Given the description of an element on the screen output the (x, y) to click on. 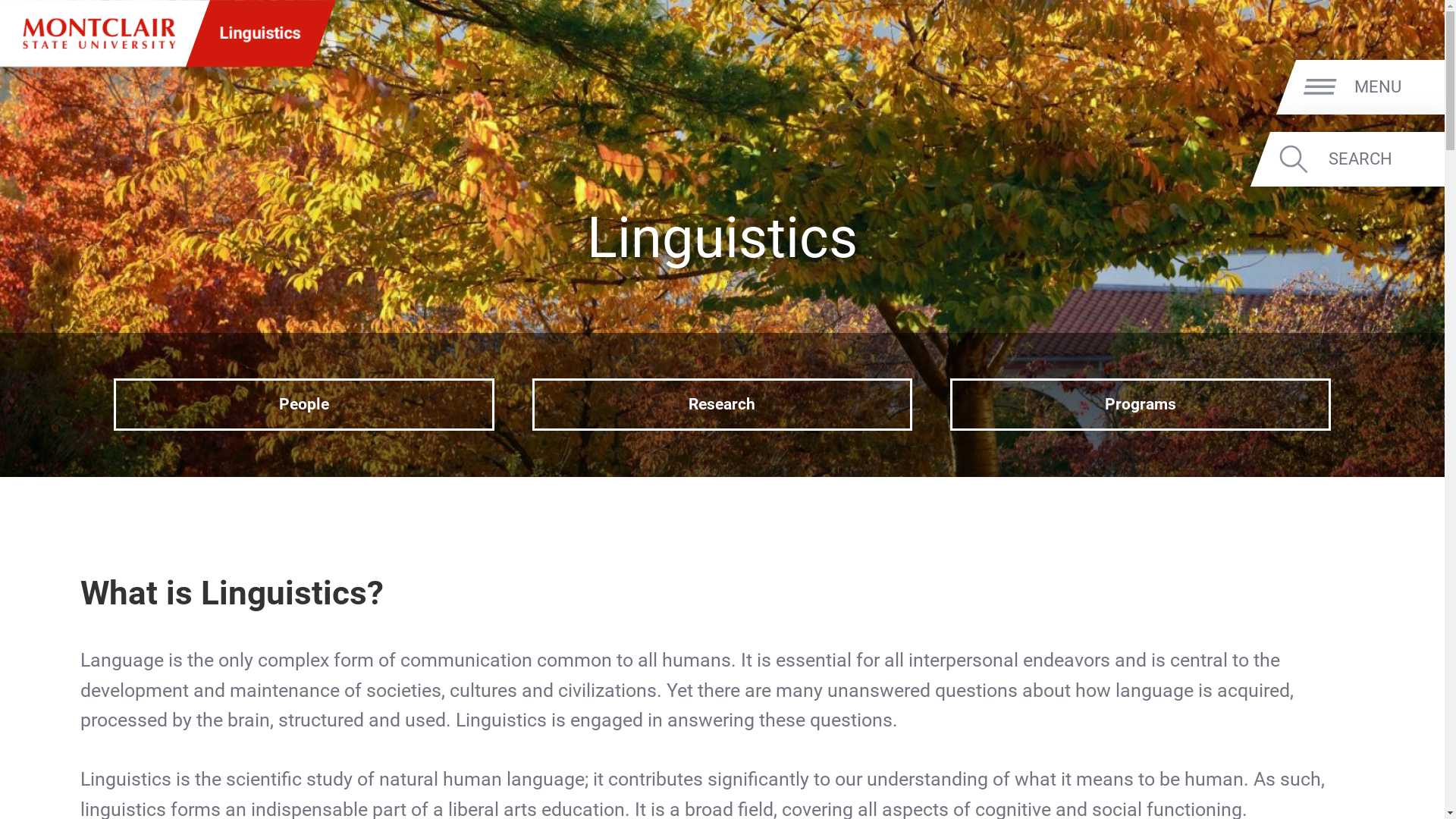
Research (722, 404)
MENU (1396, 86)
SEARCH (1383, 158)
People (304, 404)
Linguistics (260, 33)
